Given the description of an element on the screen output the (x, y) to click on. 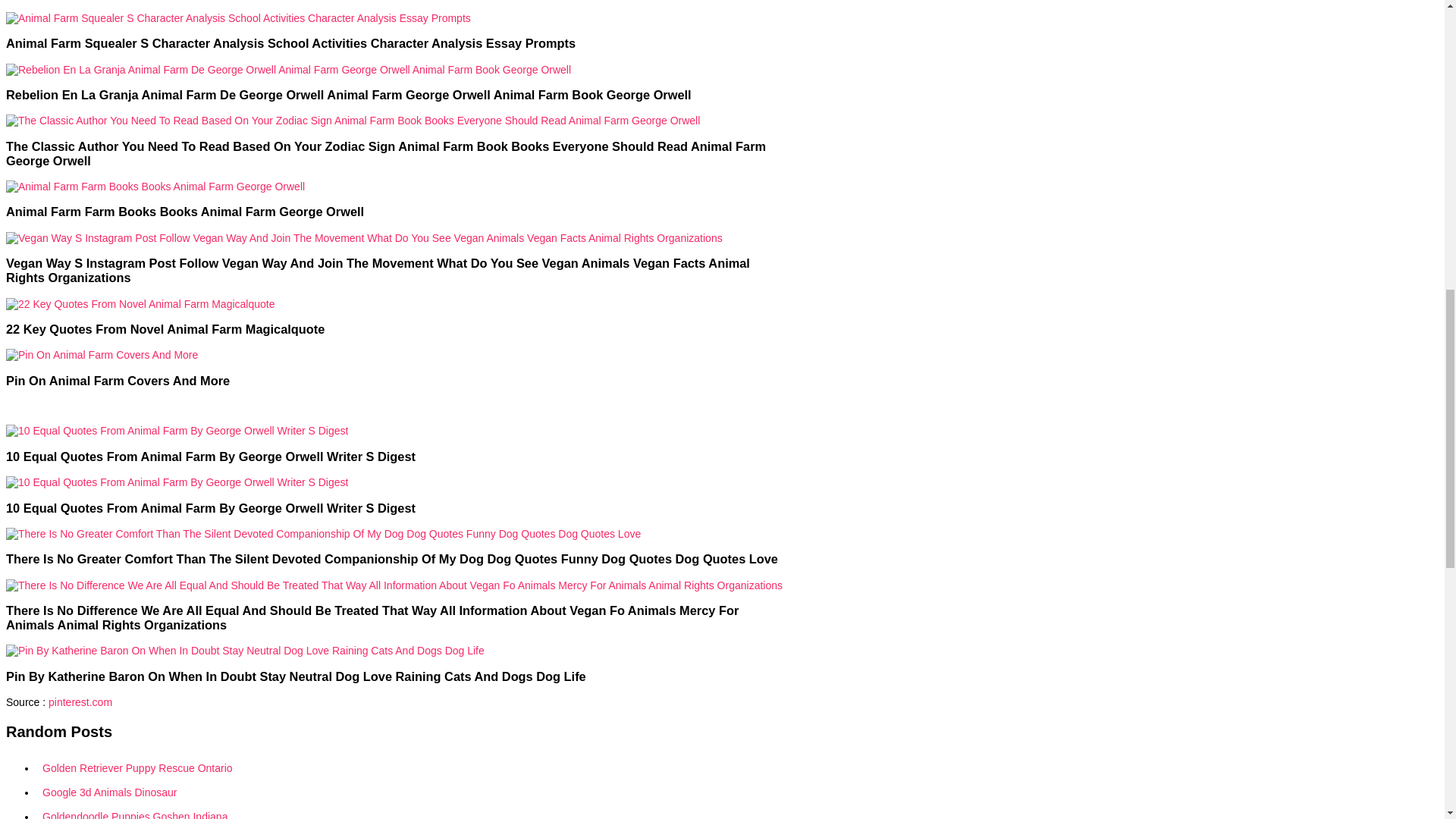
Google 3d Animals Dinosaur (409, 792)
Goldendoodle Puppies Goshen Indiana (409, 811)
Golden Retriever Puppy Rescue Ontario (409, 767)
pinterest.com (80, 702)
